Given the description of an element on the screen output the (x, y) to click on. 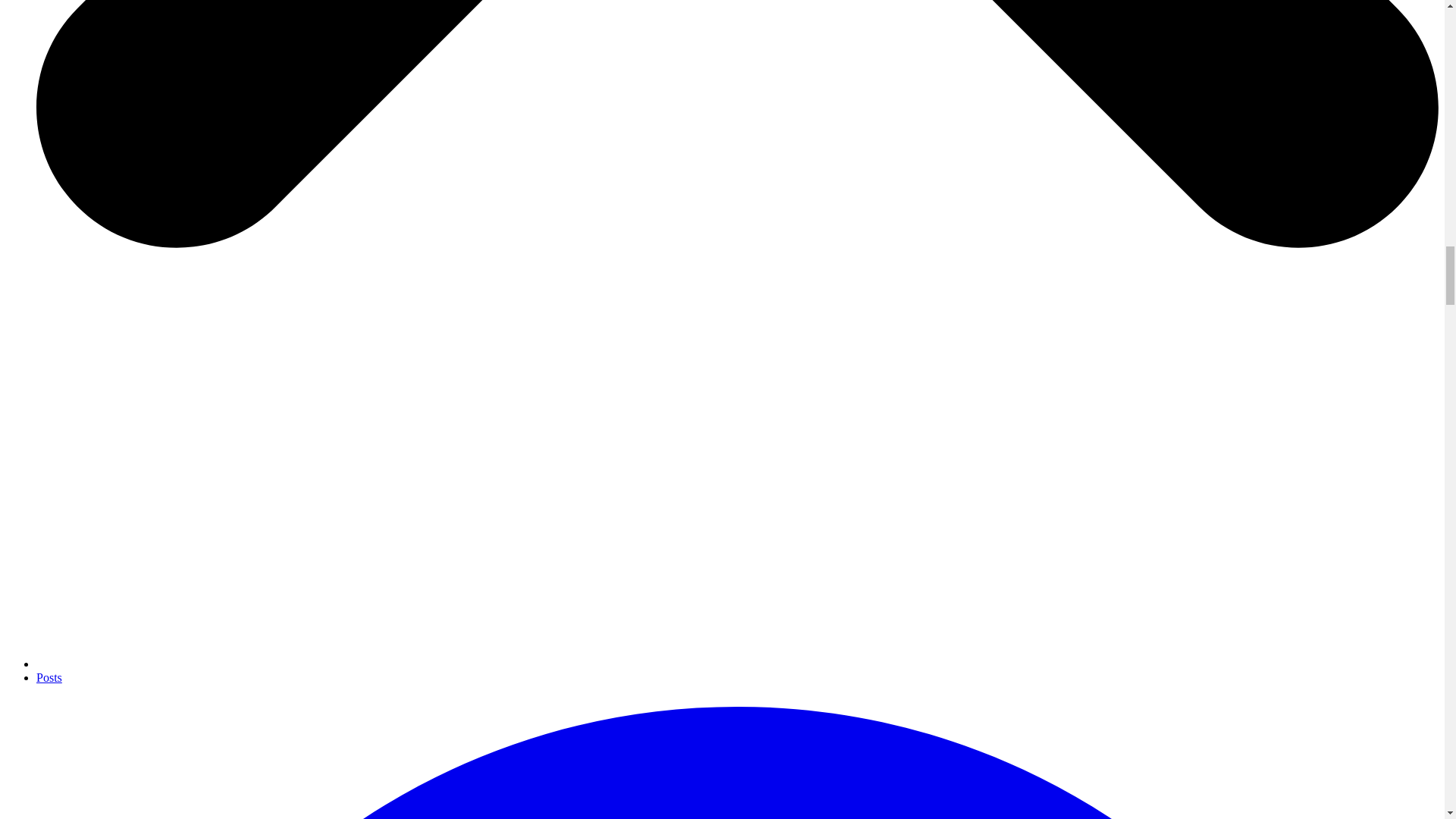
Posts (49, 676)
